Given the description of an element on the screen output the (x, y) to click on. 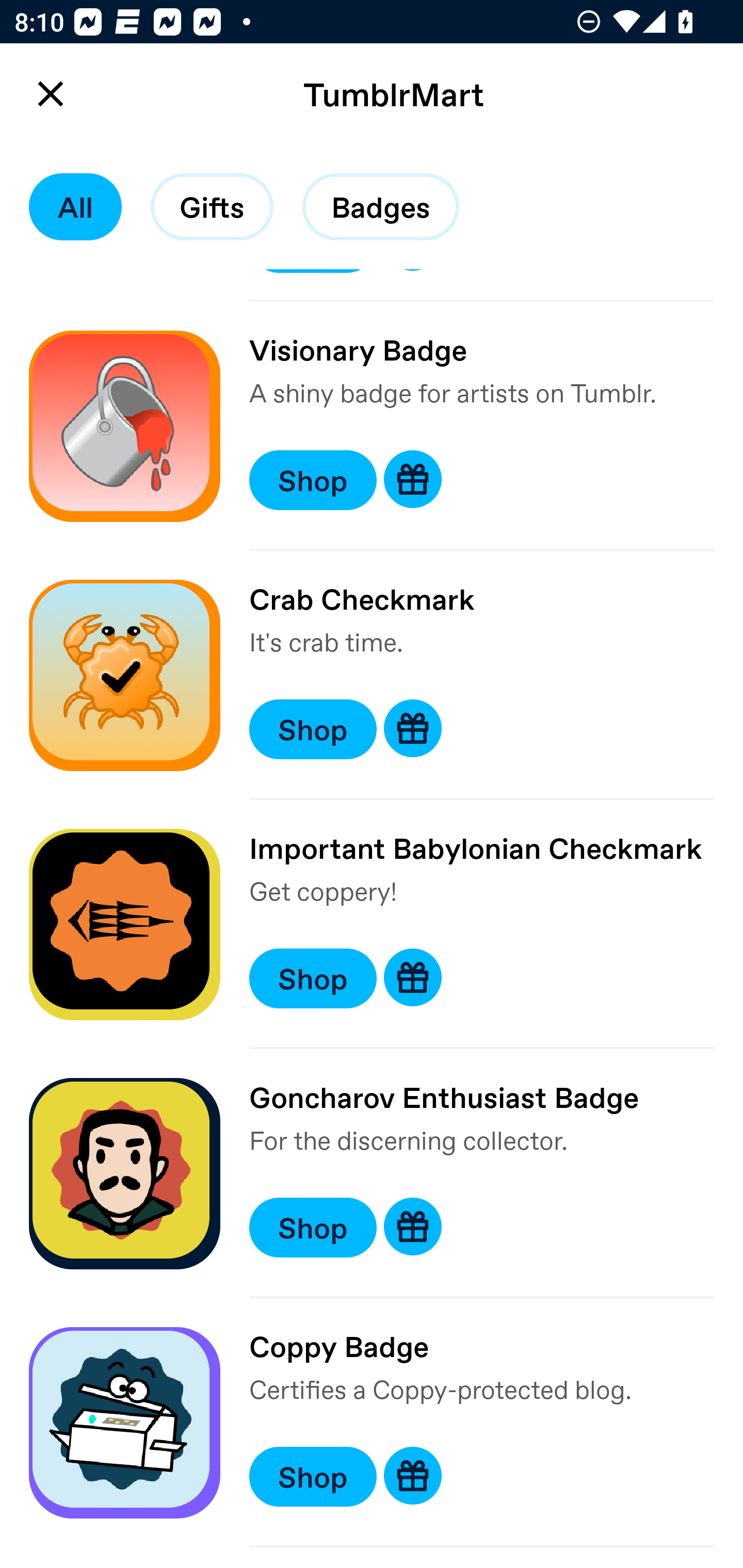
All (74, 206)
Gifts (211, 206)
Badges (380, 206)
Shop (312, 479)
Crab Checkmark It's crab time. Shop (371, 674)
Shop (312, 728)
Important Babylonian Checkmark Get coppery! Shop (371, 923)
Shop (312, 978)
Shop (312, 1227)
Coppy Badge Certifies a Coppy-protected blog. Shop (371, 1422)
Shop (312, 1476)
